Given the description of an element on the screen output the (x, y) to click on. 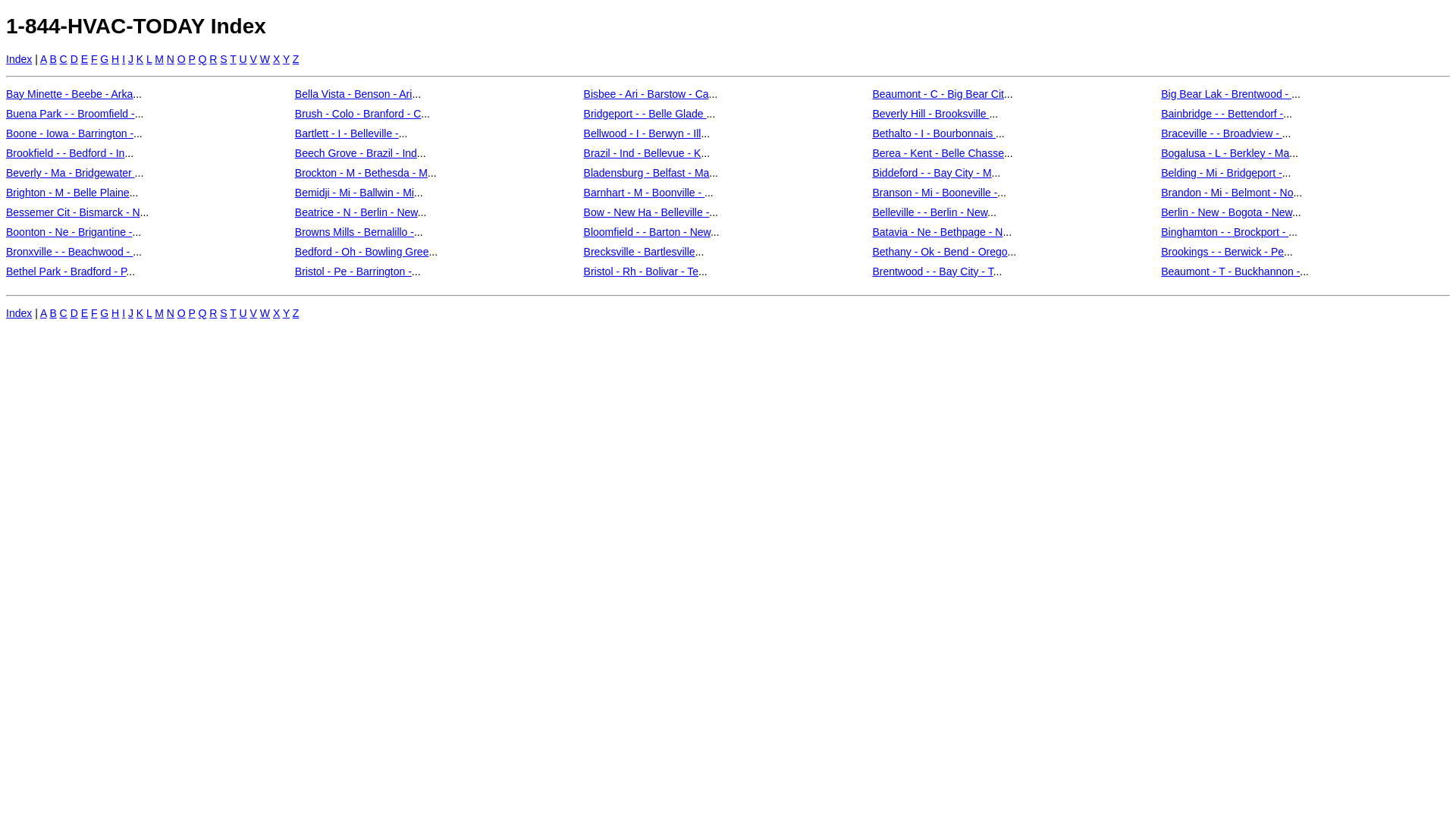
P Element type: text (191, 312)
Batavia - Ne - Bethpage - N Element type: text (937, 231)
Brookings - - Berwick - Pe Element type: text (1222, 251)
Buena Park - - Broomfield - Element type: text (70, 113)
G Element type: text (104, 59)
J Element type: text (130, 312)
P Element type: text (191, 59)
Brockton - M - Bethesda - M Element type: text (360, 172)
Index Element type: text (18, 59)
Bay Minette - Beebe - Arka Element type: text (69, 93)
O Element type: text (181, 312)
Bloomfield - - Barton - New Element type: text (646, 231)
A Element type: text (43, 59)
Boonton - Ne - Brigantine - Element type: text (69, 231)
Beverly Hill - Brooksville Element type: text (930, 113)
M Element type: text (158, 312)
B Element type: text (52, 312)
E Element type: text (84, 312)
Bellwood - I - Berwyn - Ill Element type: text (642, 133)
Bedford - Oh - Bowling Gree Element type: text (361, 251)
Index Element type: text (18, 312)
D Element type: text (74, 312)
N Element type: text (170, 59)
Z Element type: text (295, 59)
Bronxville - - Beachwood - Element type: text (69, 251)
U Element type: text (243, 312)
T Element type: text (232, 312)
Brazil - Ind - Bellevue - K Element type: text (642, 153)
N Element type: text (170, 312)
X Element type: text (276, 59)
Binghamton - - Brockport - Element type: text (1224, 231)
Bethany - Ok - Bend - Orego Element type: text (939, 251)
W Element type: text (264, 312)
Biddeford - - Bay City - M Element type: text (931, 172)
R Element type: text (212, 59)
V Element type: text (253, 59)
Branson - Mi - Booneville - Element type: text (934, 192)
R Element type: text (212, 312)
Bemidji - Mi - Ballwin - Mi Element type: text (354, 192)
X Element type: text (276, 312)
Y Element type: text (285, 59)
C Element type: text (63, 59)
H Element type: text (115, 312)
Bladensburg - Belfast - Ma Element type: text (646, 172)
D Element type: text (74, 59)
K Element type: text (139, 59)
Bartlett - I - Belleville - Element type: text (346, 133)
Braceville - - Broadview - Element type: text (1221, 133)
U Element type: text (243, 59)
Brush - Colo - Branford - C Element type: text (357, 113)
W Element type: text (264, 59)
O Element type: text (181, 59)
Brookfield - - Bedford - In Element type: text (65, 153)
Belding - Mi - Bridgeport - Element type: text (1221, 172)
L Element type: text (148, 59)
Bessemer Cit - Bismarck - N Element type: text (73, 212)
H Element type: text (115, 59)
Barnhart - M - Boonville - Element type: text (644, 192)
B Element type: text (52, 59)
G Element type: text (104, 312)
Berea - Kent - Belle Chasse Element type: text (938, 153)
Brighton - M - Belle Plaine Element type: text (67, 192)
Bethel Park - Bradford - P Element type: text (65, 271)
Bella Vista - Benson - Ari Element type: text (353, 93)
Bethalto - I - Bourbonnais Element type: text (933, 133)
E Element type: text (84, 59)
V Element type: text (253, 312)
Berlin - New - Bogota - New Element type: text (1226, 212)
Bristol - Pe - Barrington - Element type: text (352, 271)
J Element type: text (130, 59)
C Element type: text (63, 312)
Beatrice - N - Berlin - New Element type: text (355, 212)
Big Bear Lak - Brentwood - Element type: text (1226, 93)
Boone - Iowa - Barrington - Element type: text (69, 133)
Bainbridge - - Bettendorf - Element type: text (1222, 113)
F Element type: text (94, 59)
Beaumont - C - Big Bear Cit Element type: text (938, 93)
Q Element type: text (202, 59)
Bogalusa - L - Berkley - Ma Element type: text (1225, 153)
Brentwood - - Bay City - T Element type: text (932, 271)
Beverly - Ma - Bridgewater Element type: text (70, 172)
Bow - New Ha - Belleville - Element type: text (646, 212)
Belleville - - Berlin - New Element type: text (929, 212)
Browns Mills - Bernalillo - Element type: text (354, 231)
S Element type: text (222, 312)
Beaumont - T - Buckhannon - Element type: text (1230, 271)
K Element type: text (139, 312)
I Element type: text (123, 59)
T Element type: text (232, 59)
S Element type: text (222, 59)
Z Element type: text (295, 312)
A Element type: text (43, 312)
I Element type: text (123, 312)
Bristol - Rh - Bolivar - Te Element type: text (640, 271)
M Element type: text (158, 59)
Beech Grove - Brazil - Ind Element type: text (355, 153)
Q Element type: text (202, 312)
Bridgeport - - Belle Glade Element type: text (644, 113)
Brandon - Mi - Belmont - No Element type: text (1226, 192)
F Element type: text (94, 312)
Y Element type: text (285, 312)
Brecksville - Bartlesville Element type: text (639, 251)
Bisbee - Ari - Barstow - Ca Element type: text (646, 93)
L Element type: text (148, 312)
